Given the description of an element on the screen output the (x, y) to click on. 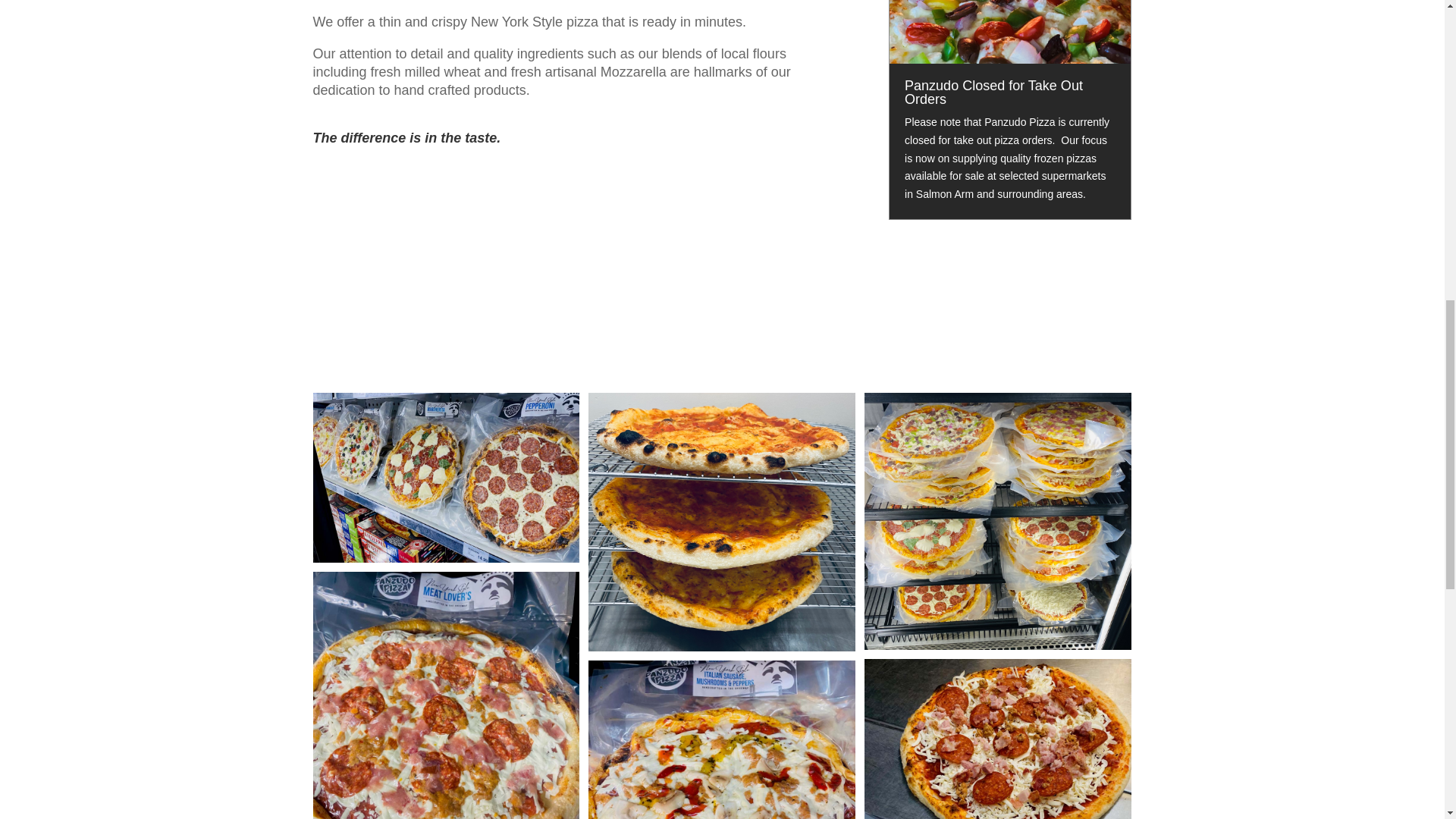
Frozen-Pizza-1 (446, 477)
Meat-lovers-pizza-1 (446, 695)
Italian-Sausage-Pizza-1 (722, 739)
Frozen-Pizza-7 (997, 739)
